Given the description of an element on the screen output the (x, y) to click on. 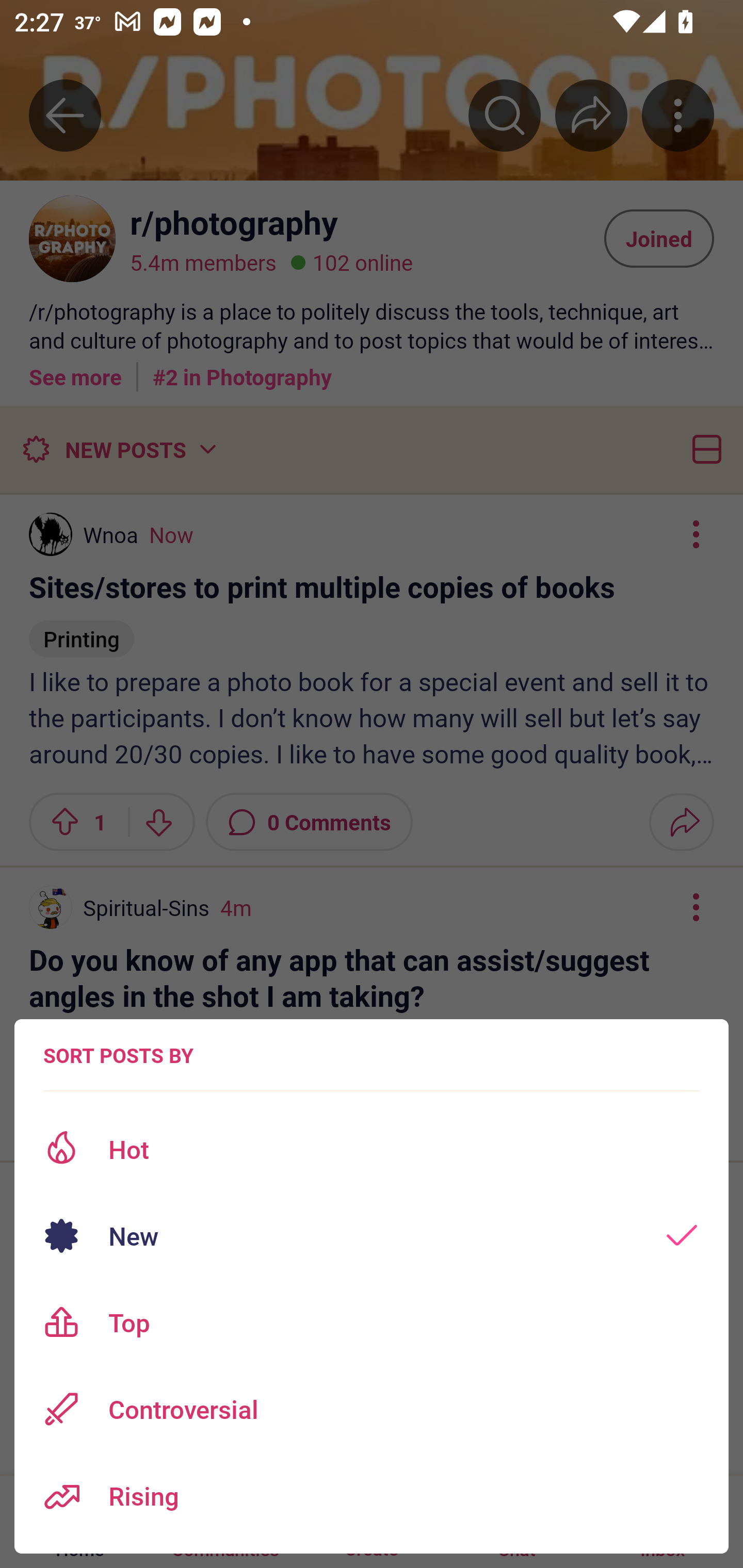
SORT POSTS BY Sort posts options (118, 1055)
Hot (371, 1149)
New (371, 1236)
Top (371, 1322)
Controversial (371, 1408)
Rising (371, 1495)
